Given the description of an element on the screen output the (x, y) to click on. 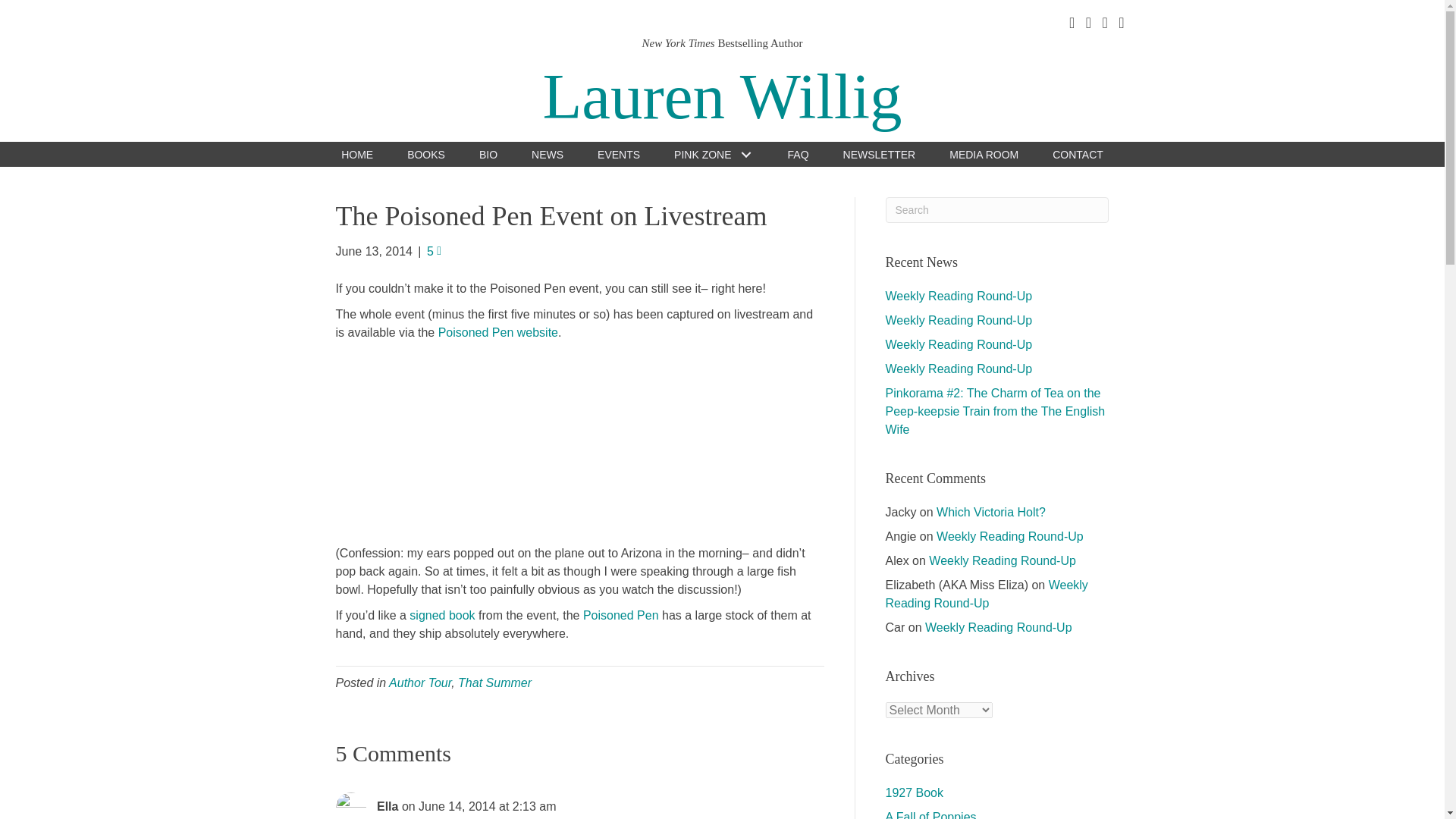
Author Tour (419, 682)
Weekly Reading Round-Up (958, 319)
NEWSLETTER (879, 154)
EVENTS (618, 154)
FAQ (798, 154)
BIO (487, 154)
Weekly Reading Round-Up (958, 344)
Poisoned Pen website (497, 332)
Lauren Willig (721, 95)
5 (433, 250)
signed book (441, 615)
BOOKS (426, 154)
Lauren Willig (721, 95)
That Summer (494, 682)
CONTACT (1078, 154)
